Given the description of an element on the screen output the (x, y) to click on. 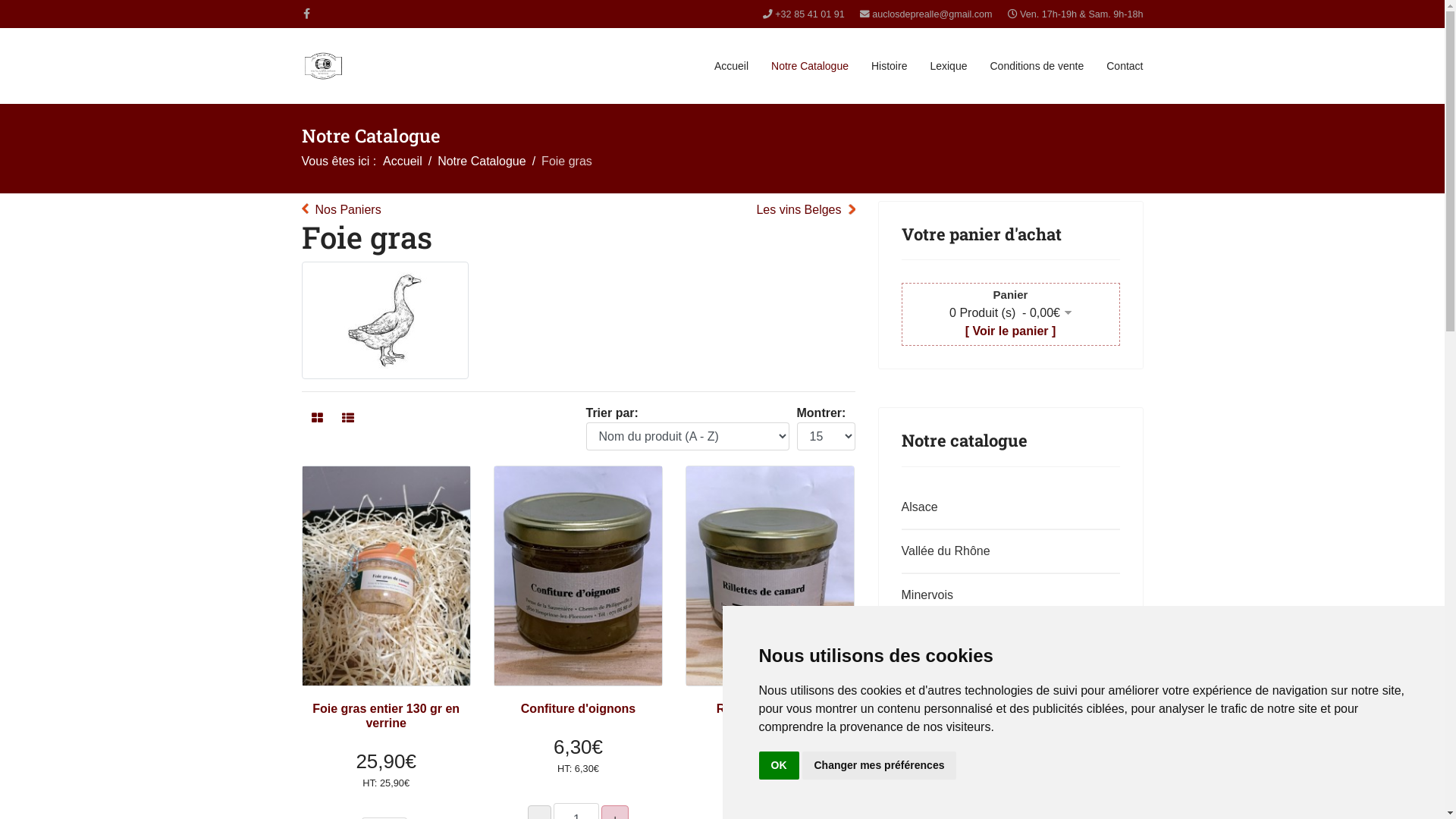
Conditions de vente Element type: text (1036, 65)
Foie gras entier 130 gr en verrine Element type: hover (385, 575)
Rillettes de canard Element type: hover (769, 575)
Lexique Element type: text (948, 65)
Foie gras entier 130 gr en verrine Element type: text (385, 715)
Confiture d'oignons Element type: text (577, 708)
Champagnes Element type: text (1006, 639)
Notre Catalogue Element type: text (481, 160)
OK Element type: text (778, 765)
Bordeaux Element type: text (1006, 771)
Notre Catalogue Element type: text (809, 65)
+32 85 41 01 91 Element type: text (809, 14)
Confiture d'oignons Element type: hover (578, 575)
Nos Paniers Element type: text (341, 209)
Les vins Belges Element type: text (805, 209)
Minervois Element type: text (1006, 595)
Contact Element type: text (1124, 65)
Foie gras Element type: hover (384, 320)
Histoire Element type: text (888, 65)
auclosdeprealle@gmail.com Element type: text (931, 14)
[ Voir le panier ] Element type: text (1010, 330)
Alsace Element type: text (1006, 507)
Accueil Element type: text (402, 160)
Accueil Element type: text (730, 65)
Rillettes de canard Element type: text (770, 708)
Bourgogne Element type: text (1006, 727)
